Given the description of an element on the screen output the (x, y) to click on. 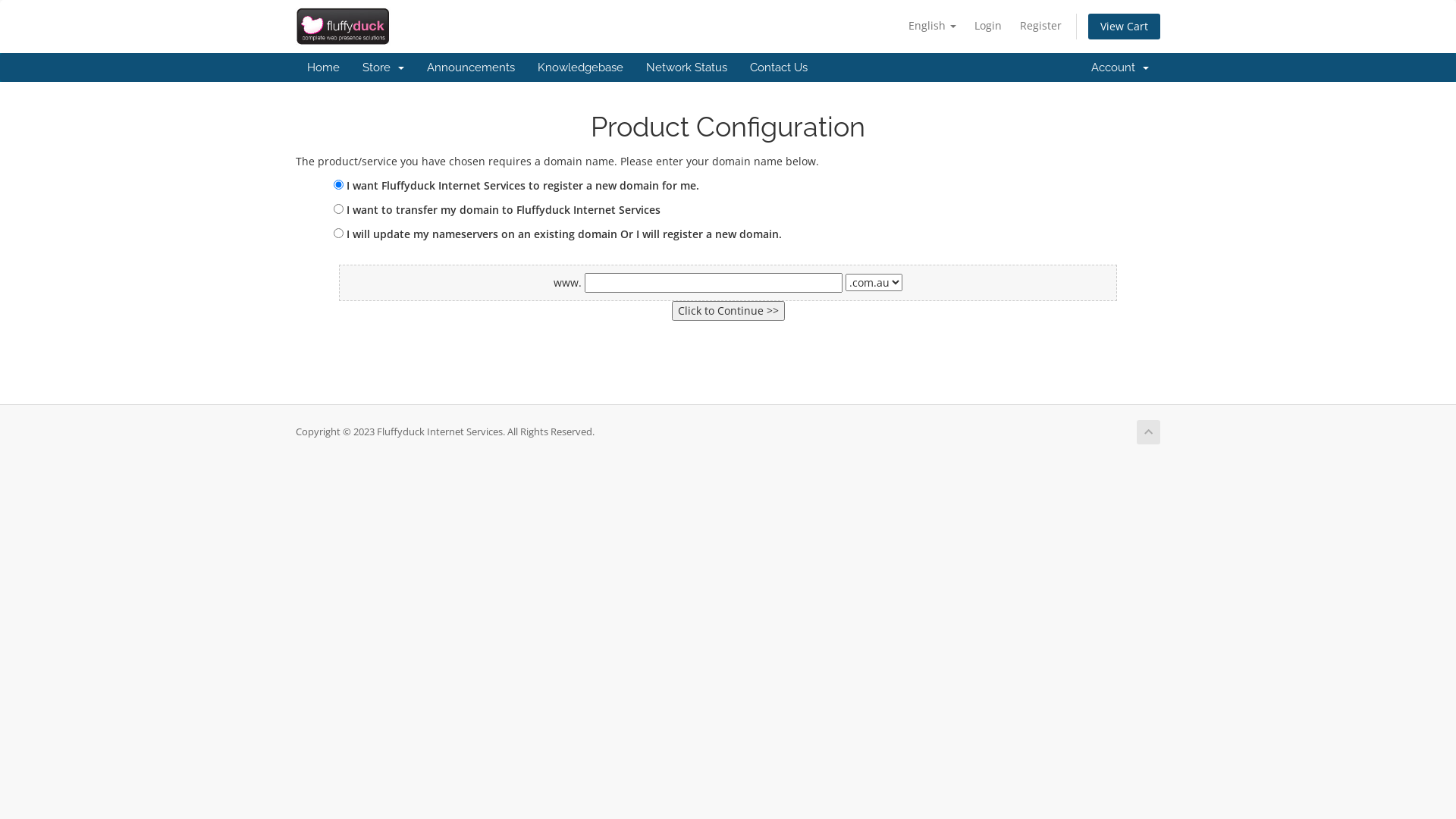
Account   Element type: text (1119, 67)
Login Element type: text (987, 25)
Click to Continue >> Element type: text (727, 310)
English Element type: text (931, 25)
Home Element type: text (323, 67)
register Element type: text (338, 184)
Knowledgebase Element type: text (580, 67)
transfer Element type: text (338, 208)
Store   Element type: text (383, 67)
Network Status Element type: text (686, 67)
View Cart Element type: text (1124, 26)
Contact Us Element type: text (778, 67)
owndomain Element type: text (338, 233)
Register Element type: text (1040, 25)
Announcements Element type: text (470, 67)
